Given the description of an element on the screen output the (x, y) to click on. 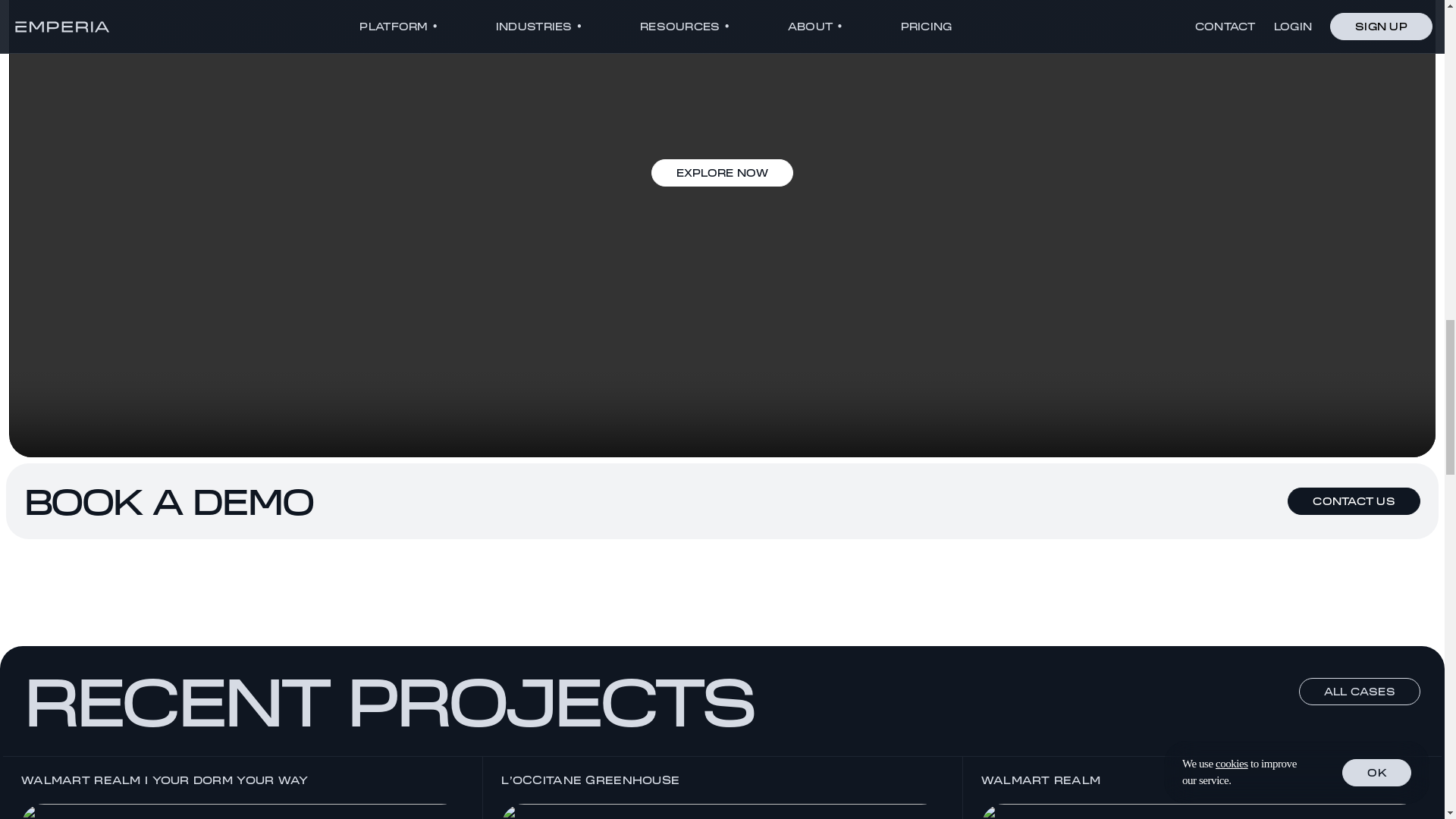
WALMART REALM I YOUR DORM YOUR WAY (241, 787)
CONTACT US (1354, 501)
ALL CASES (1359, 691)
